Given the description of an element on the screen output the (x, y) to click on. 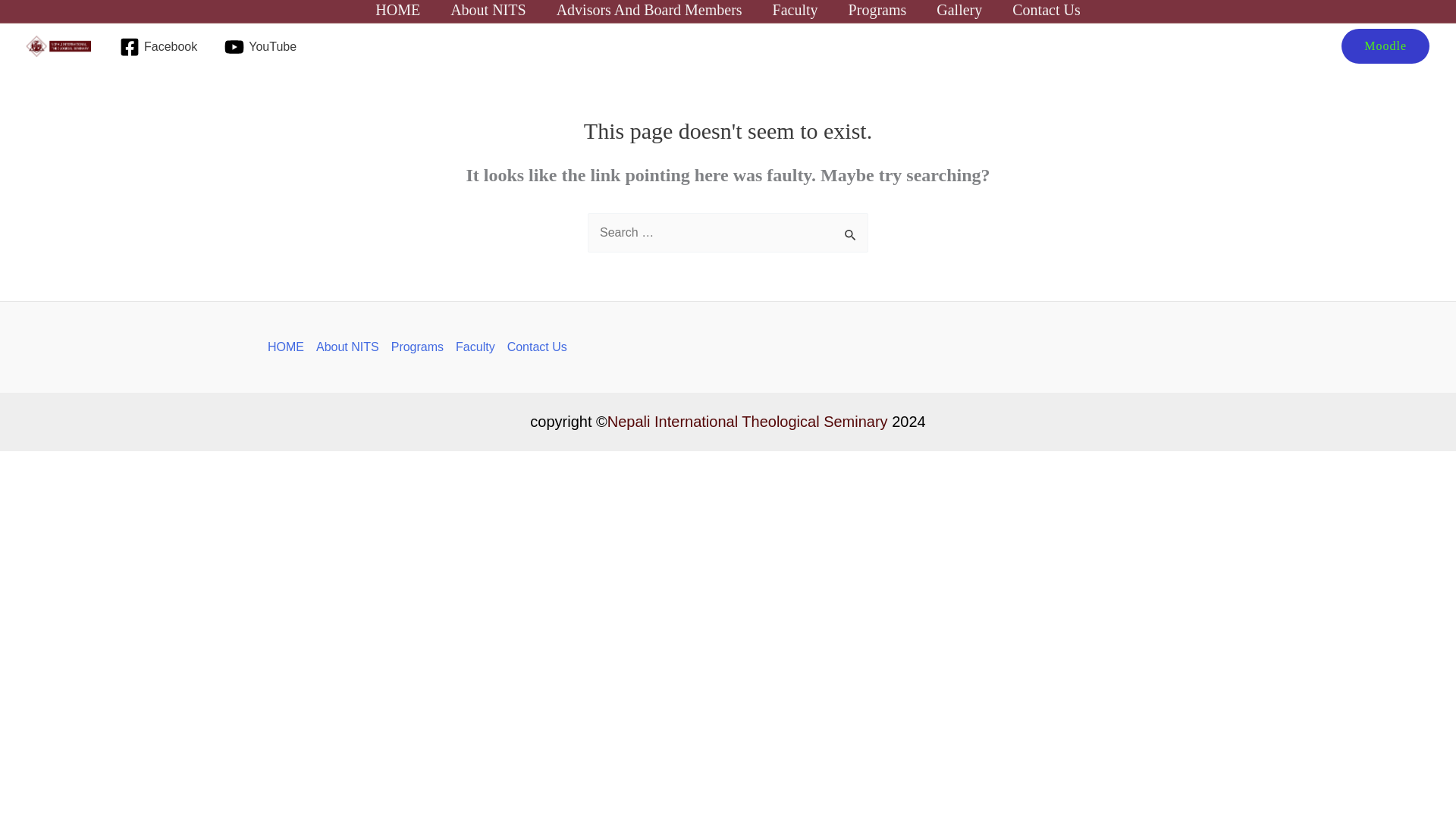
Moodle (1384, 45)
Contact Us (1045, 9)
Programs (876, 9)
About NITS (487, 9)
HOME (288, 346)
Faculty (474, 346)
YouTube (260, 47)
Facebook (157, 47)
Advisors And Board Members (649, 9)
Faculty (794, 9)
